Given the description of an element on the screen output the (x, y) to click on. 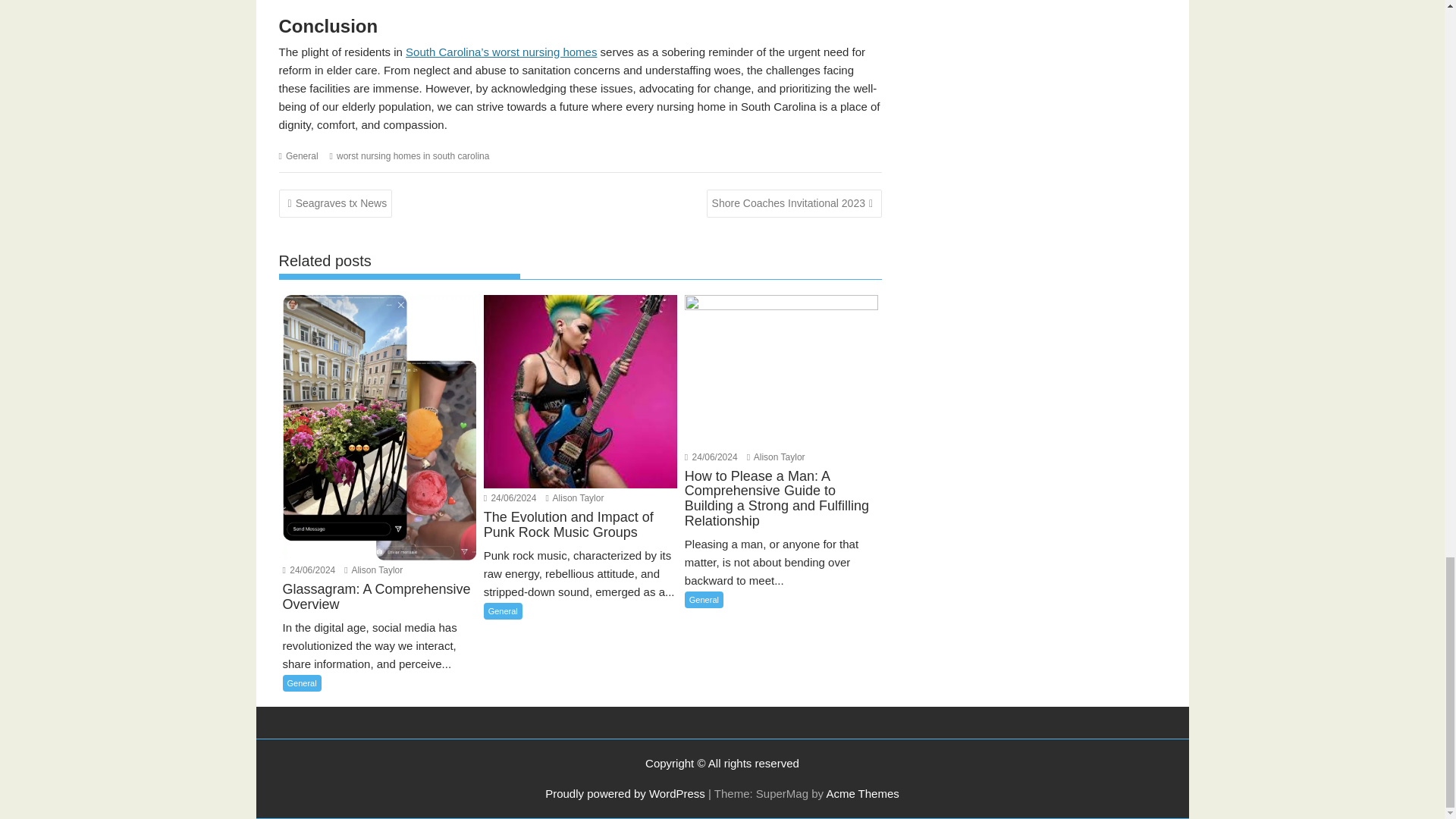
Alison Taylor (373, 570)
Alison Taylor (575, 498)
Alison Taylor (775, 457)
